Given the description of an element on the screen output the (x, y) to click on. 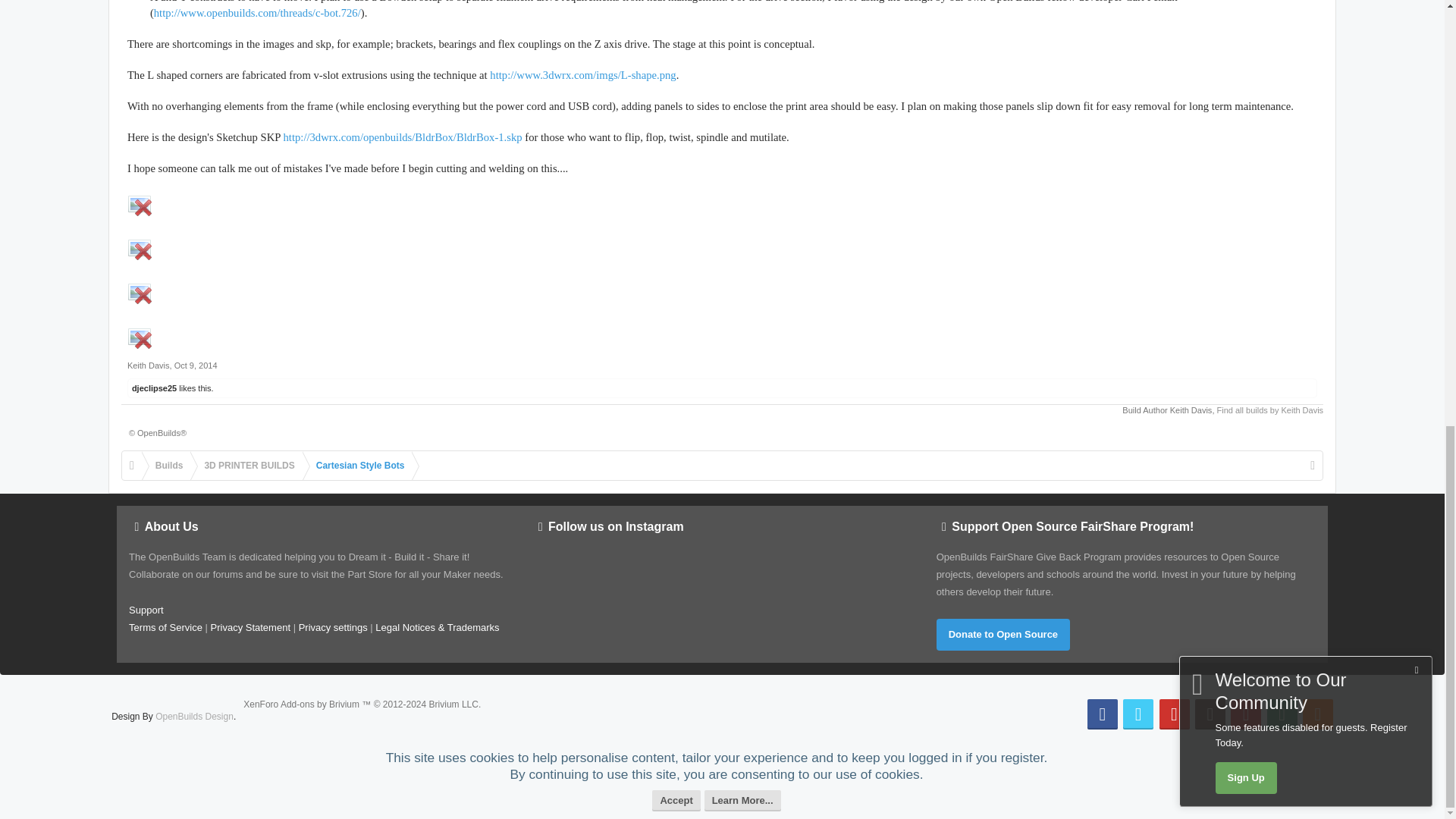
contact us (146, 609)
Permalink (195, 365)
OpenBuilds,LLC Themes (193, 716)
Brivium Limited (361, 704)
Build Author (1191, 409)
